Given the description of an element on the screen output the (x, y) to click on. 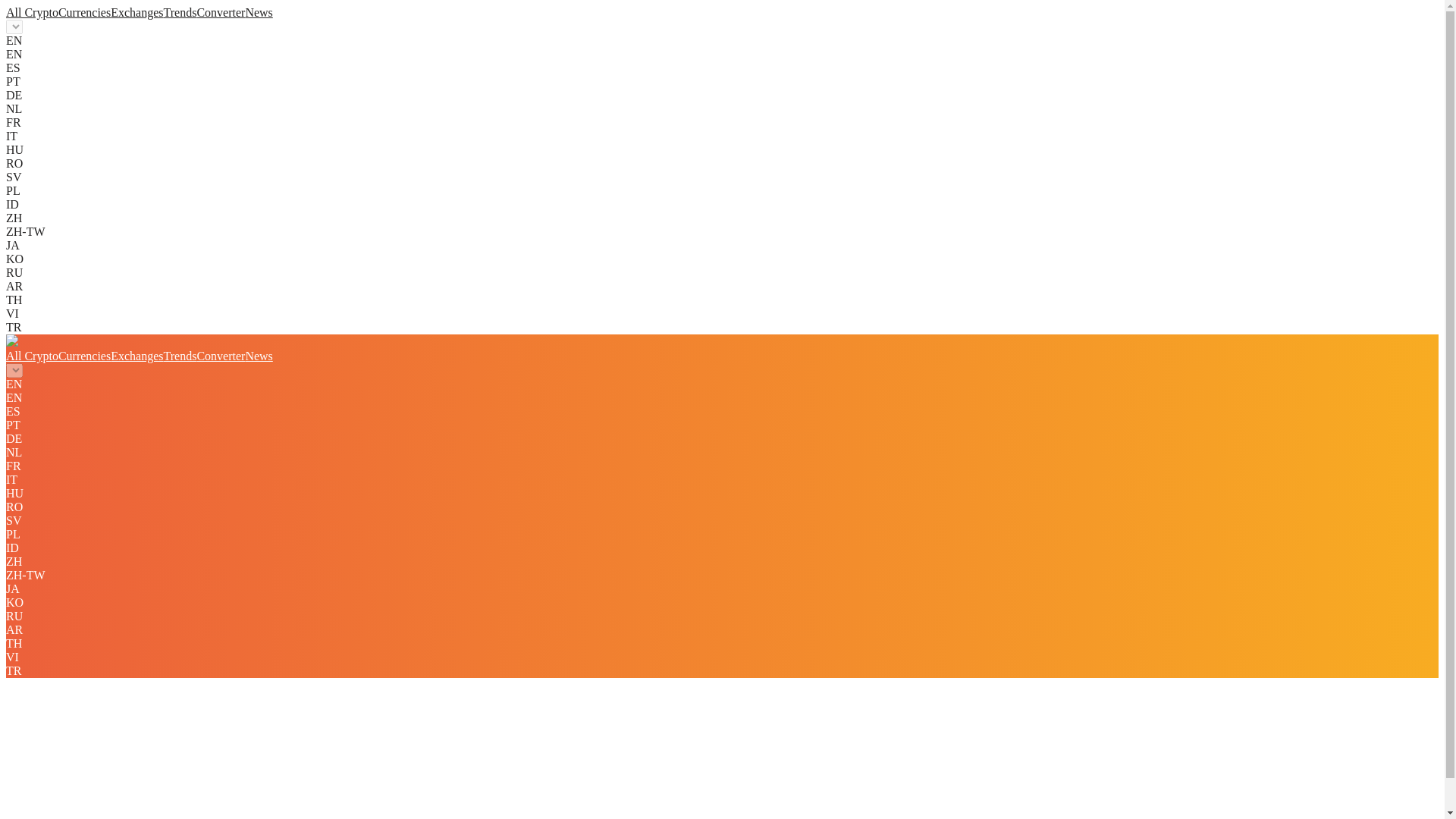
All CryptoCurrencies (57, 11)
Exchanges (136, 355)
Trends (179, 355)
All CryptoCurrencies (57, 355)
Trends (179, 11)
Exchanges (136, 11)
Converter (220, 355)
News (258, 11)
News (258, 355)
Converter (220, 11)
